Given the description of an element on the screen output the (x, y) to click on. 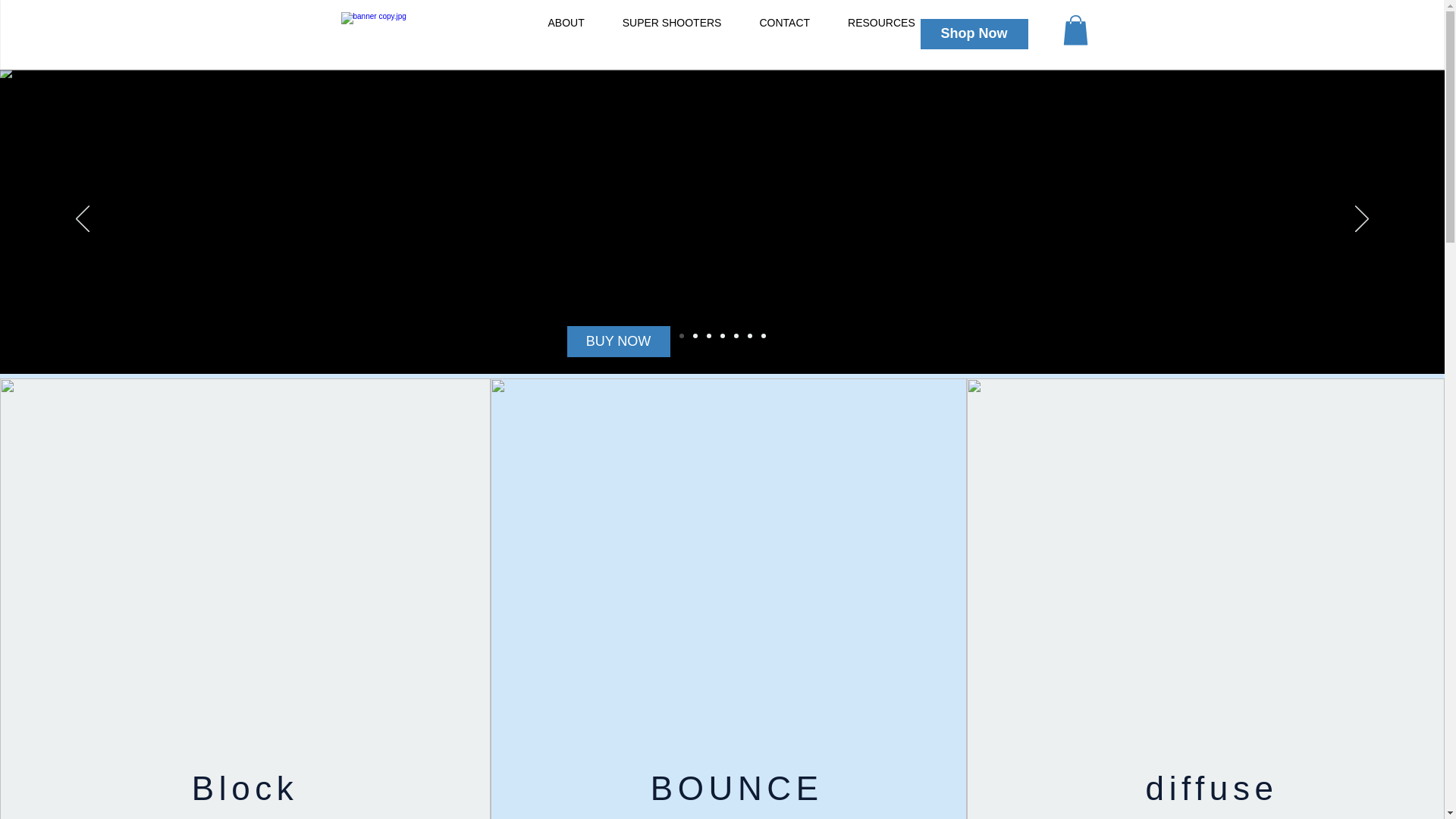
CONTACT (783, 34)
BUY NOW (618, 341)
SUPER SHOOTERS (672, 34)
Shop Now (973, 33)
ABOUT (566, 34)
RESOURCES (881, 34)
